Given the description of an element on the screen output the (x, y) to click on. 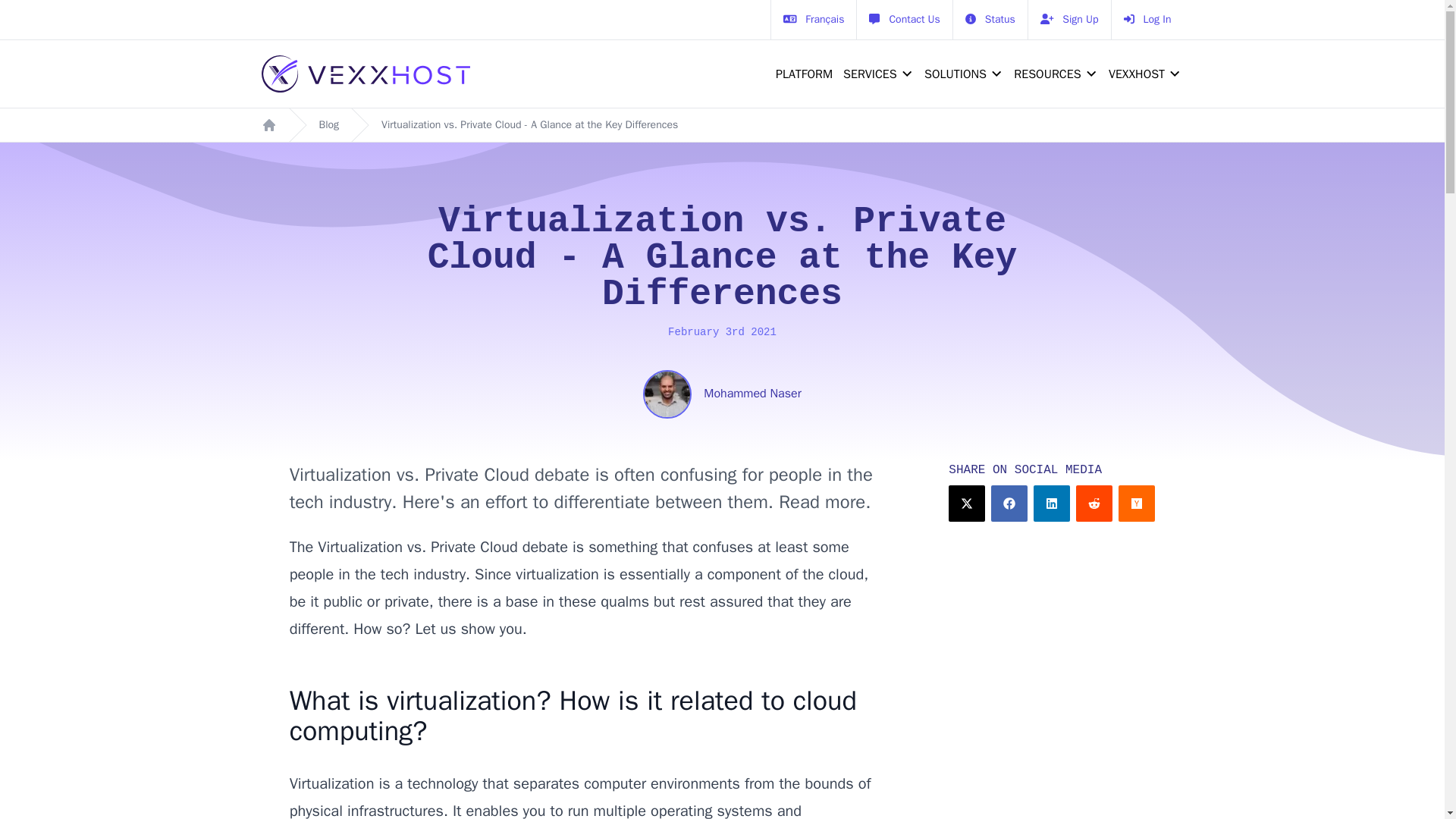
PLATFORM (800, 74)
Home (268, 124)
RESOURCES (1051, 74)
Contact Us (904, 19)
SERVICES (866, 74)
Blog (328, 124)
RESOURCES (1042, 74)
SOLUTIONS (951, 74)
Log In (1146, 19)
SERVICES (874, 74)
